Given the description of an element on the screen output the (x, y) to click on. 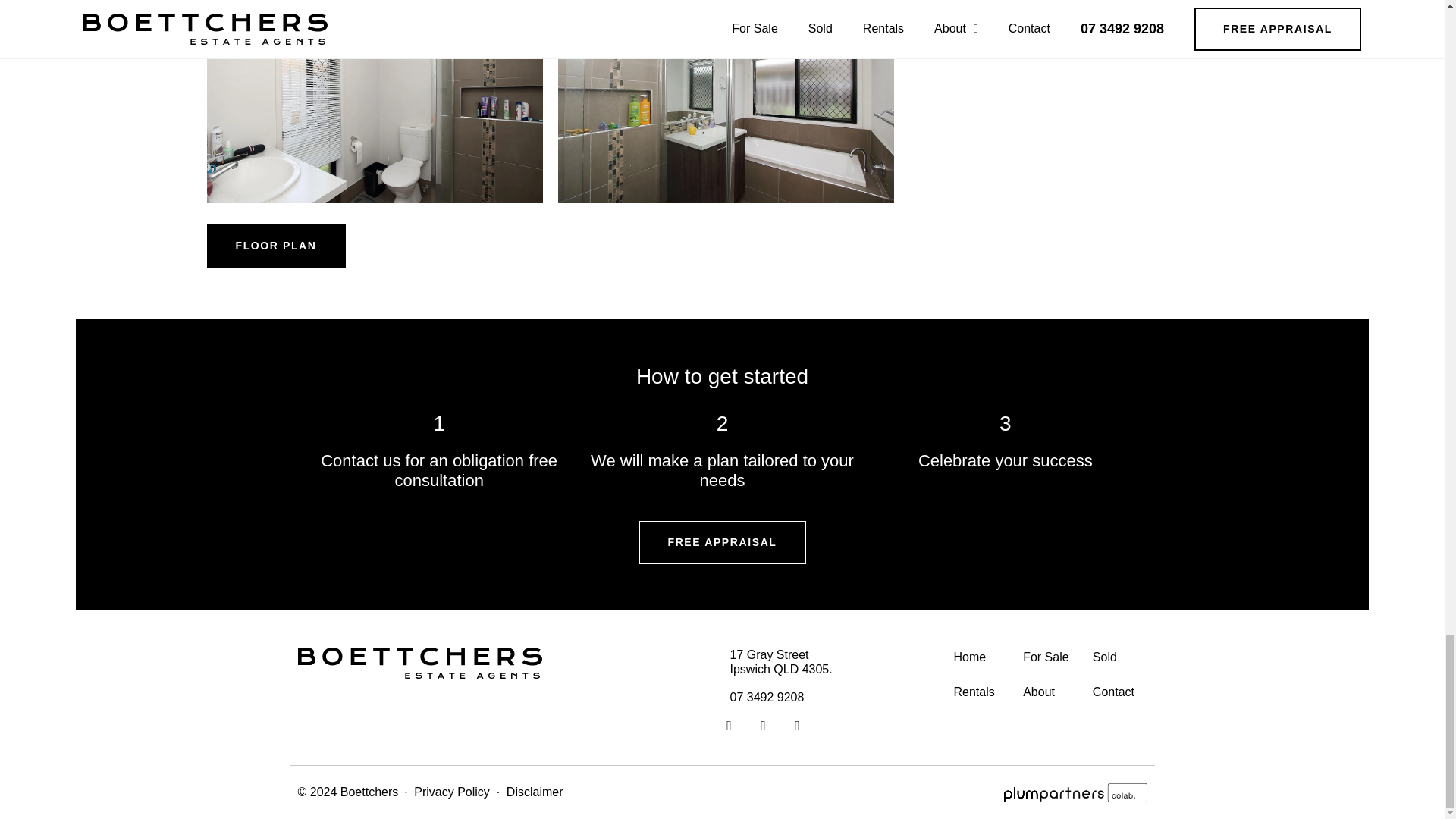
FLOOR PLAN (275, 245)
